Given the description of an element on the screen output the (x, y) to click on. 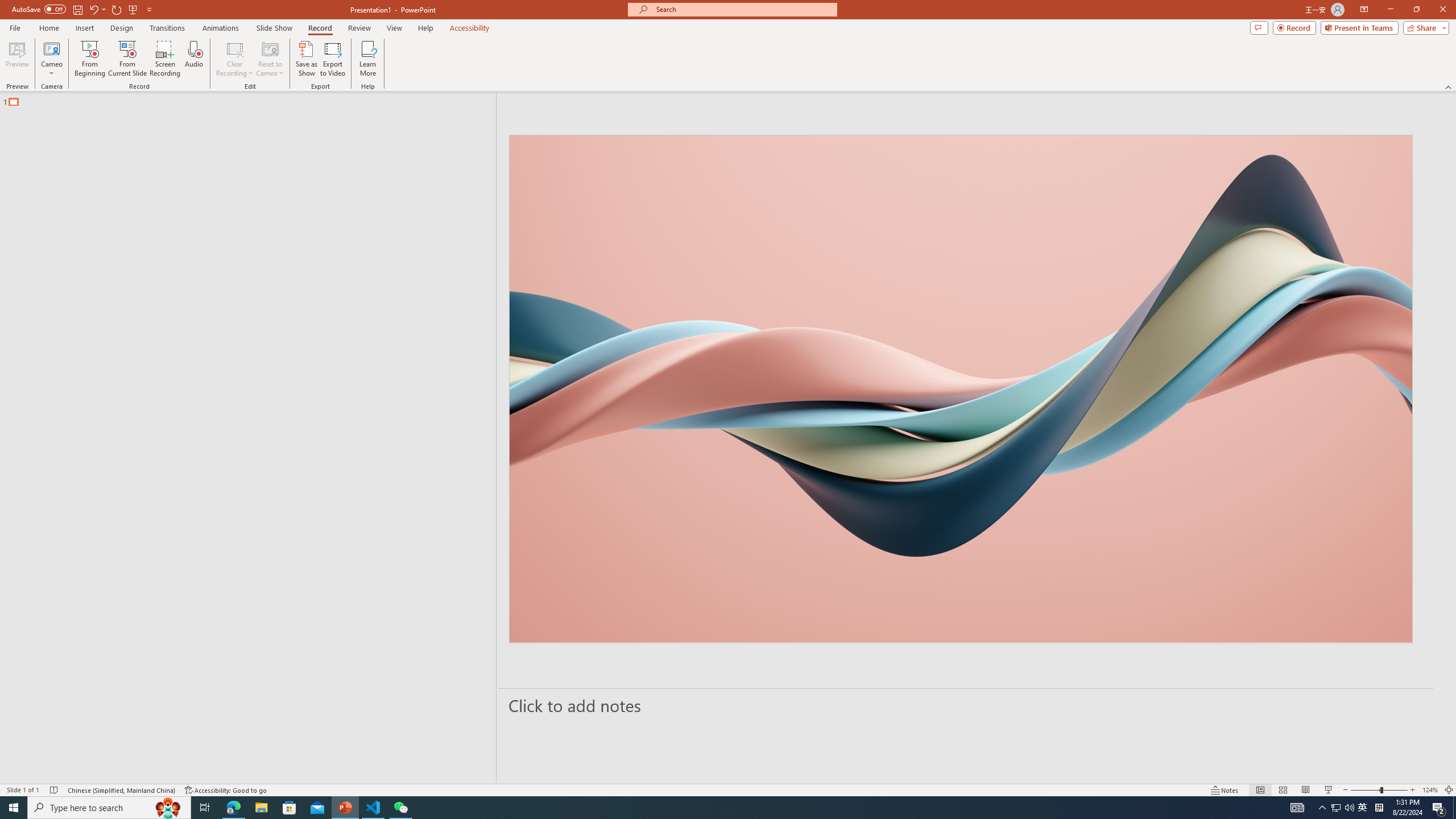
Export to Video (332, 58)
